Given the description of an element on the screen output the (x, y) to click on. 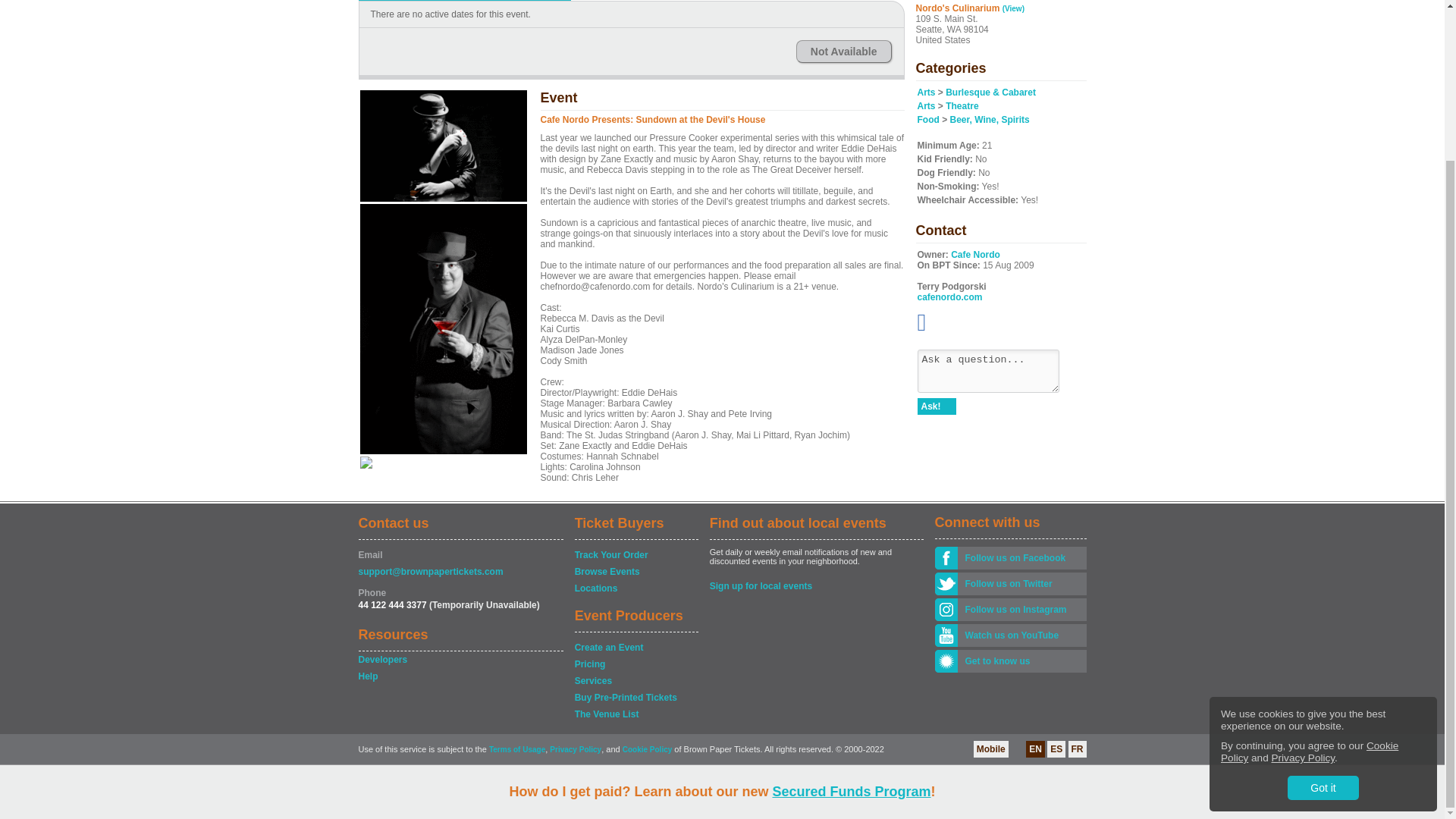
Got it (1322, 598)
Theatre (961, 105)
Services (636, 680)
Food (928, 119)
Create an Event (636, 647)
Privacy Policy (1303, 568)
Cookie Policy (1309, 562)
Not Available (843, 51)
Arts (926, 105)
Beer, Wine, Spirits (989, 119)
